Given the description of an element on the screen output the (x, y) to click on. 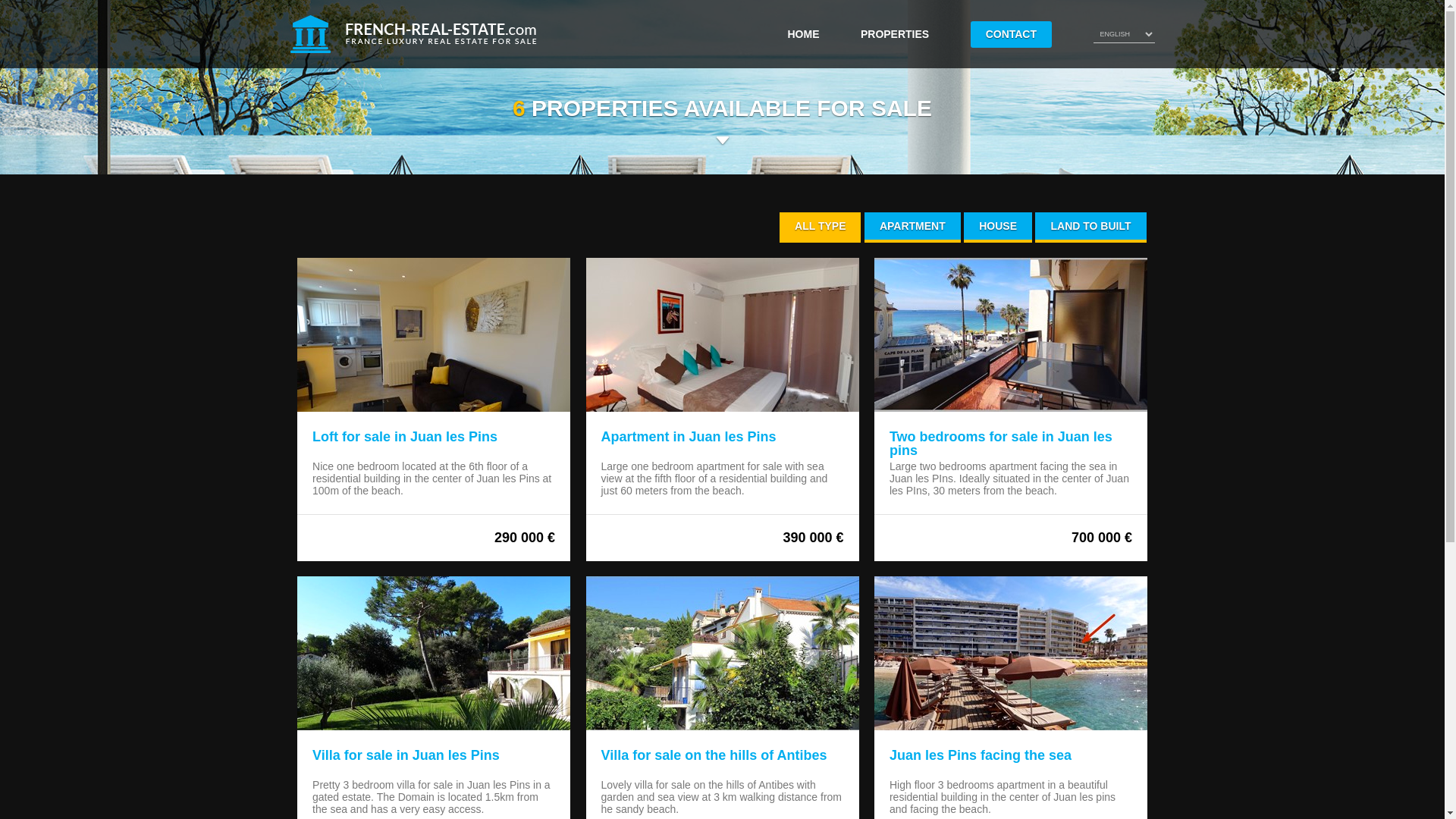
APARTMENT (912, 227)
CONTACT (1011, 34)
PROPERTIES (894, 33)
HOUSE (997, 227)
LAND TO BUILT (1090, 227)
ALL TYPE (819, 227)
HOME (802, 33)
